Given the description of an element on the screen output the (x, y) to click on. 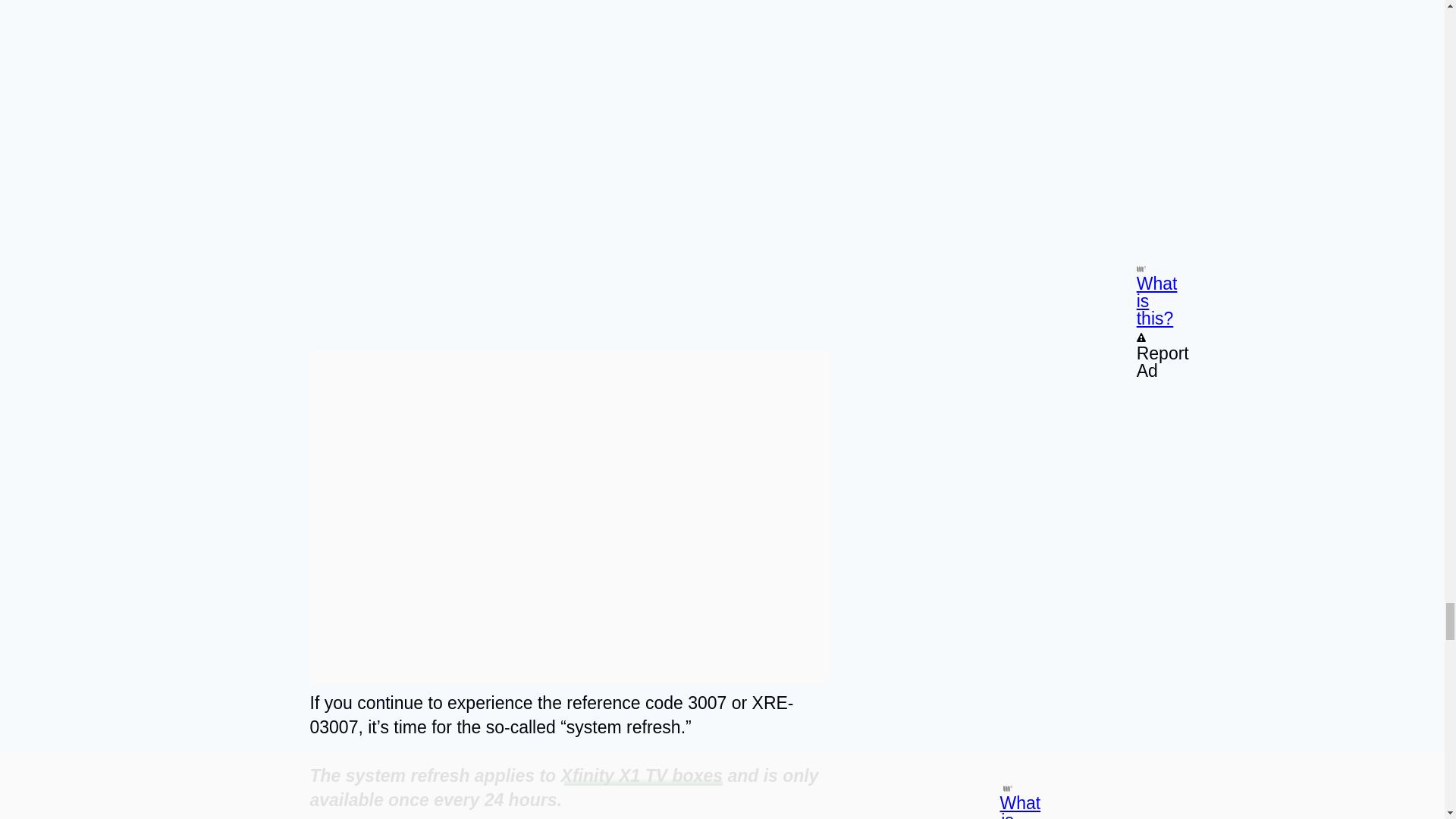
Xfinity X1 TV boxes (641, 775)
